Given the description of an element on the screen output the (x, y) to click on. 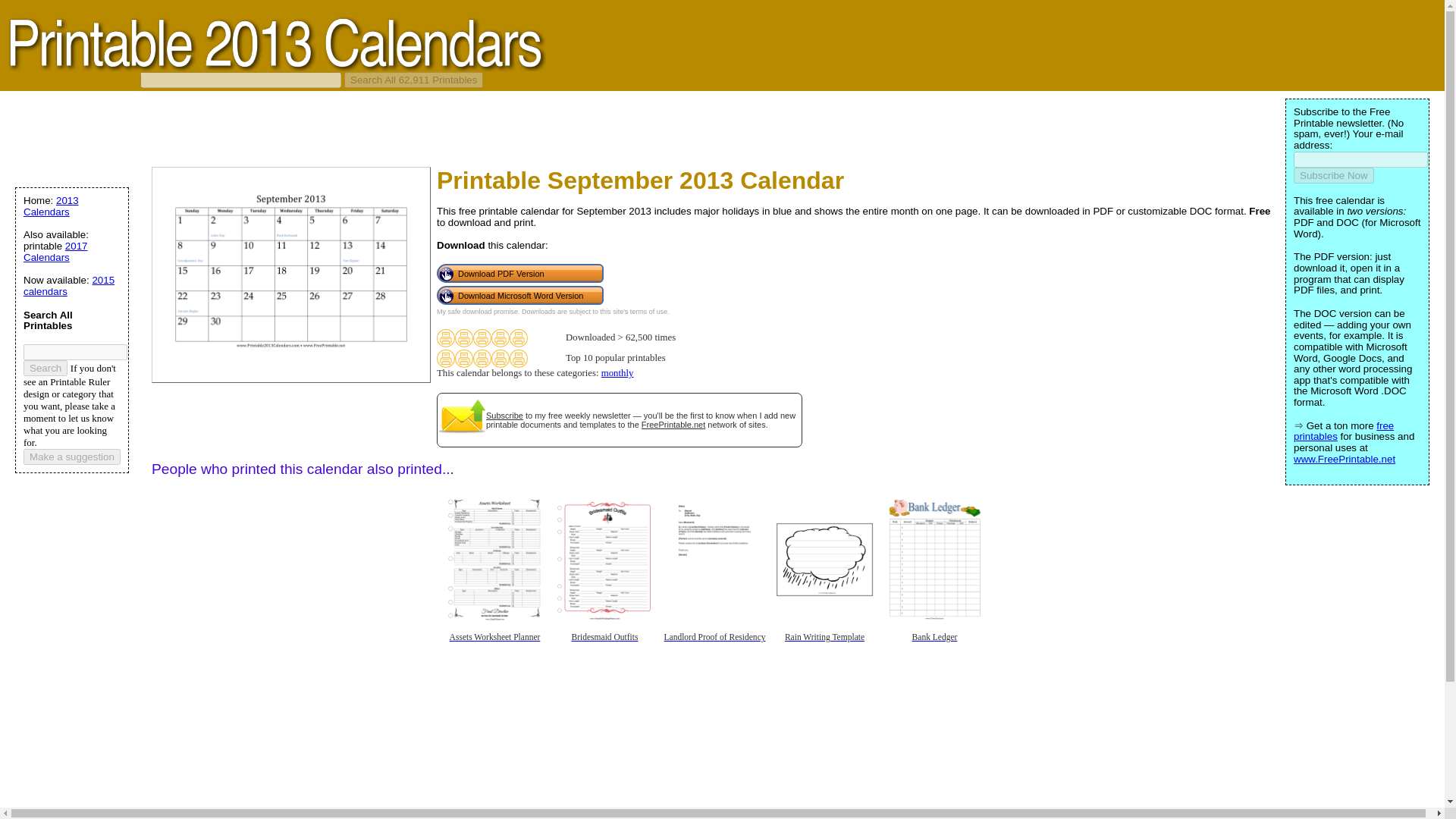
terms of use (649, 311)
Search (44, 367)
2015 calendars (69, 285)
Advertisement (518, 757)
Top 10 popular printables (463, 358)
Rain Writing Template (824, 648)
Top 10 popular printables (500, 358)
monthly (617, 372)
Top 10 popular printables (482, 358)
Top 10 popular printables (518, 358)
FreePrintable.net (673, 424)
www.FreePrintable.net (1344, 459)
Search (44, 367)
Bank Ledger (934, 648)
2017 Calendars (55, 251)
